Given the description of an element on the screen output the (x, y) to click on. 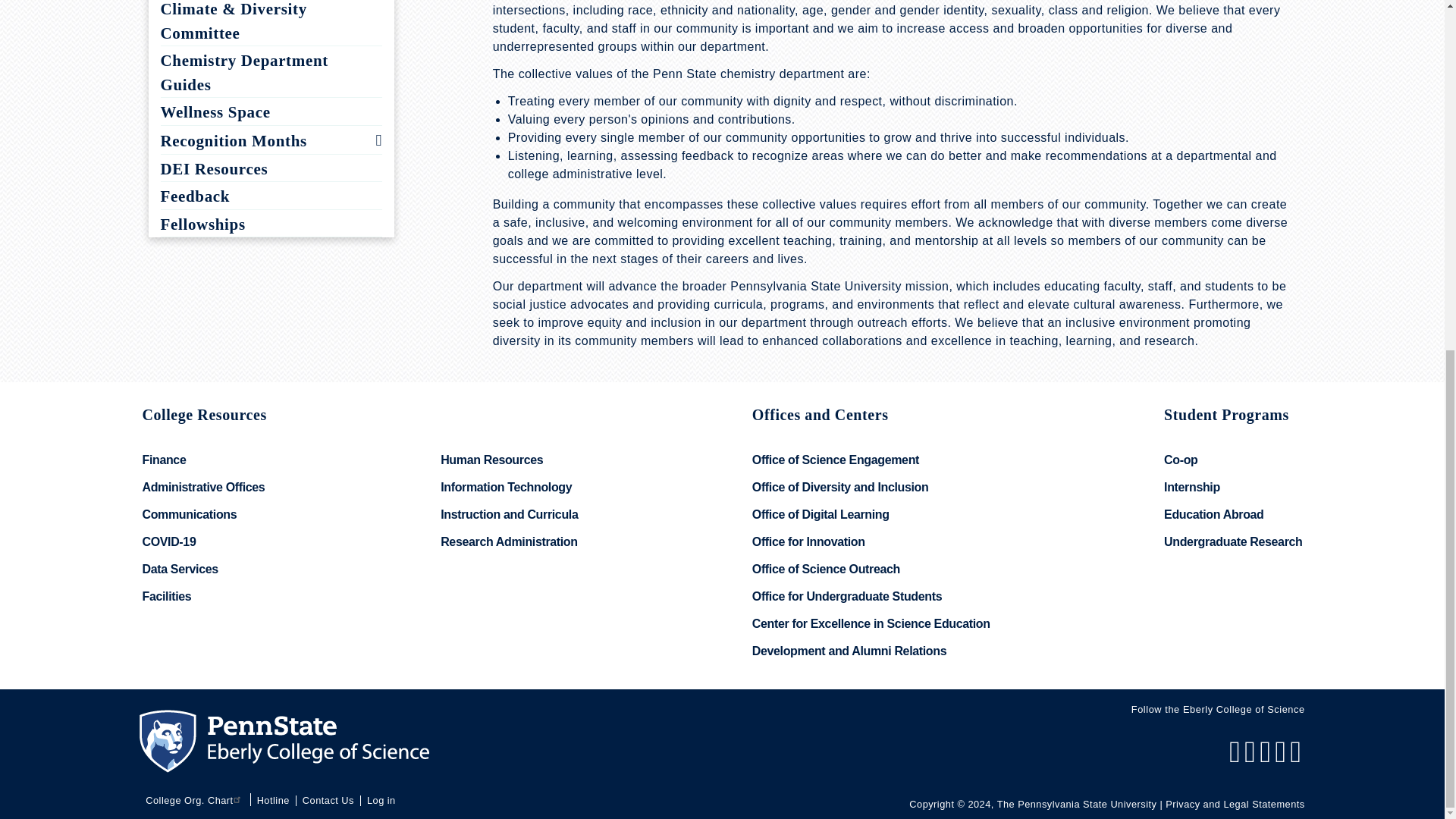
Penn State Eberly College of Science Facebook (1236, 758)
Penn State Eberly College of Science Youtube (1297, 758)
Penn State Eberly College of Science Linkedin (1282, 758)
Penn State Eberly College of Science Instagram (1267, 758)
